Given the description of an element on the screen output the (x, y) to click on. 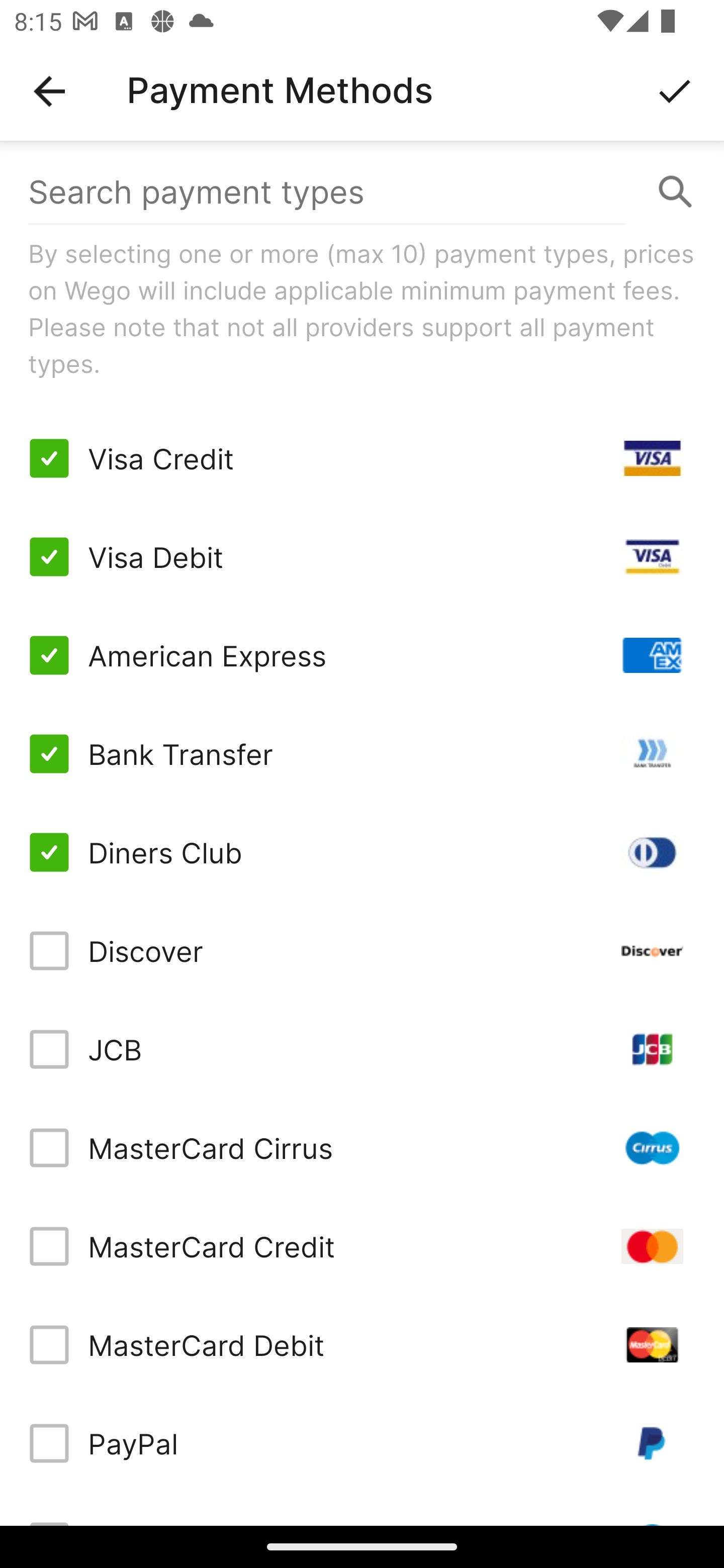
Search payment types  (361, 191)
Visa Credit (362, 458)
Visa Debit (362, 557)
American Express (362, 655)
Bank Transfer (362, 753)
Diners Club (362, 851)
Discover (362, 950)
JCB (362, 1049)
MasterCard Cirrus (362, 1147)
MasterCard Credit (362, 1245)
MasterCard Debit (362, 1344)
PayPal (362, 1442)
